Given the description of an element on the screen output the (x, y) to click on. 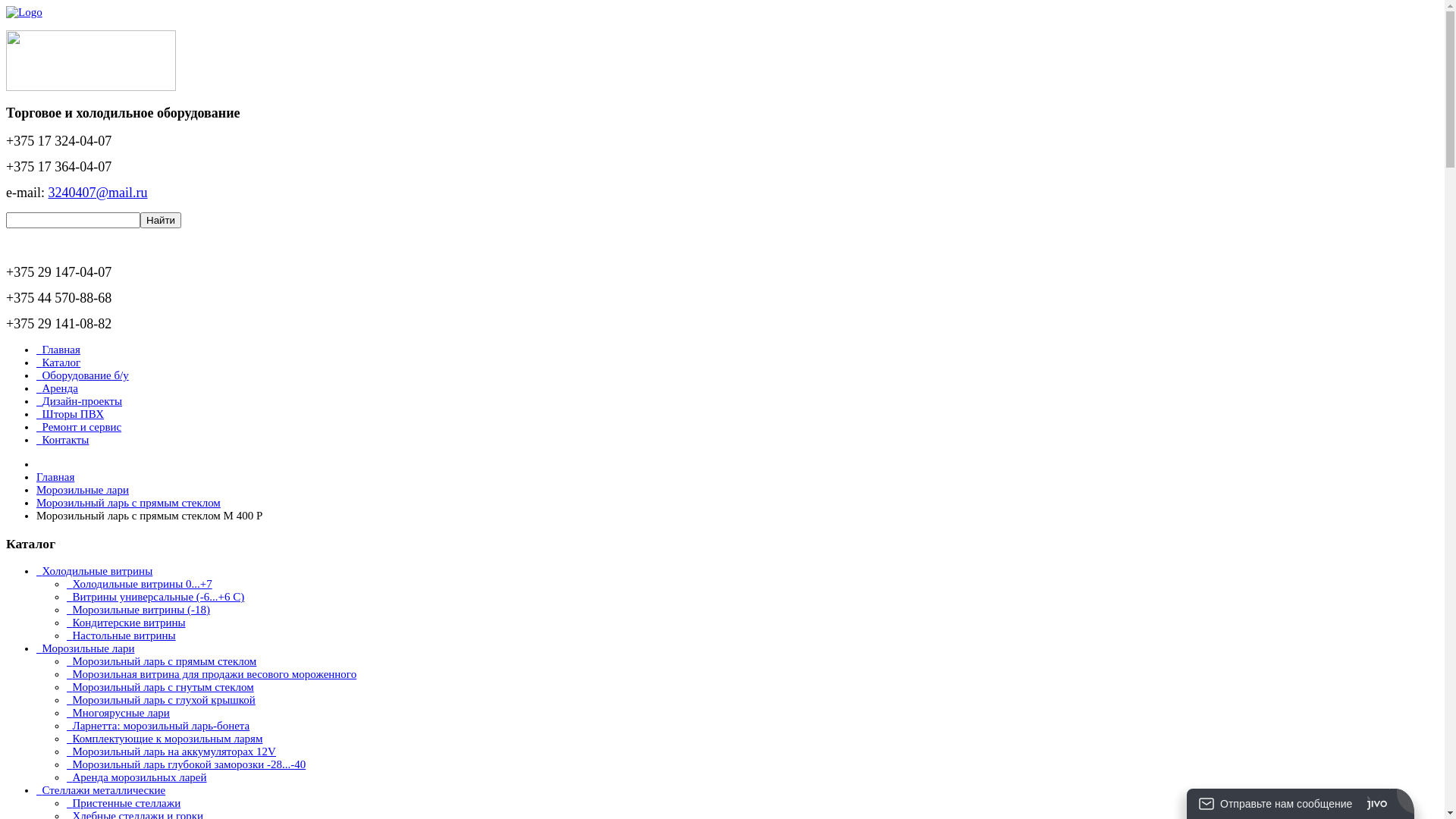
3240407@mail.ru Element type: text (97, 192)
